Given the description of an element on the screen output the (x, y) to click on. 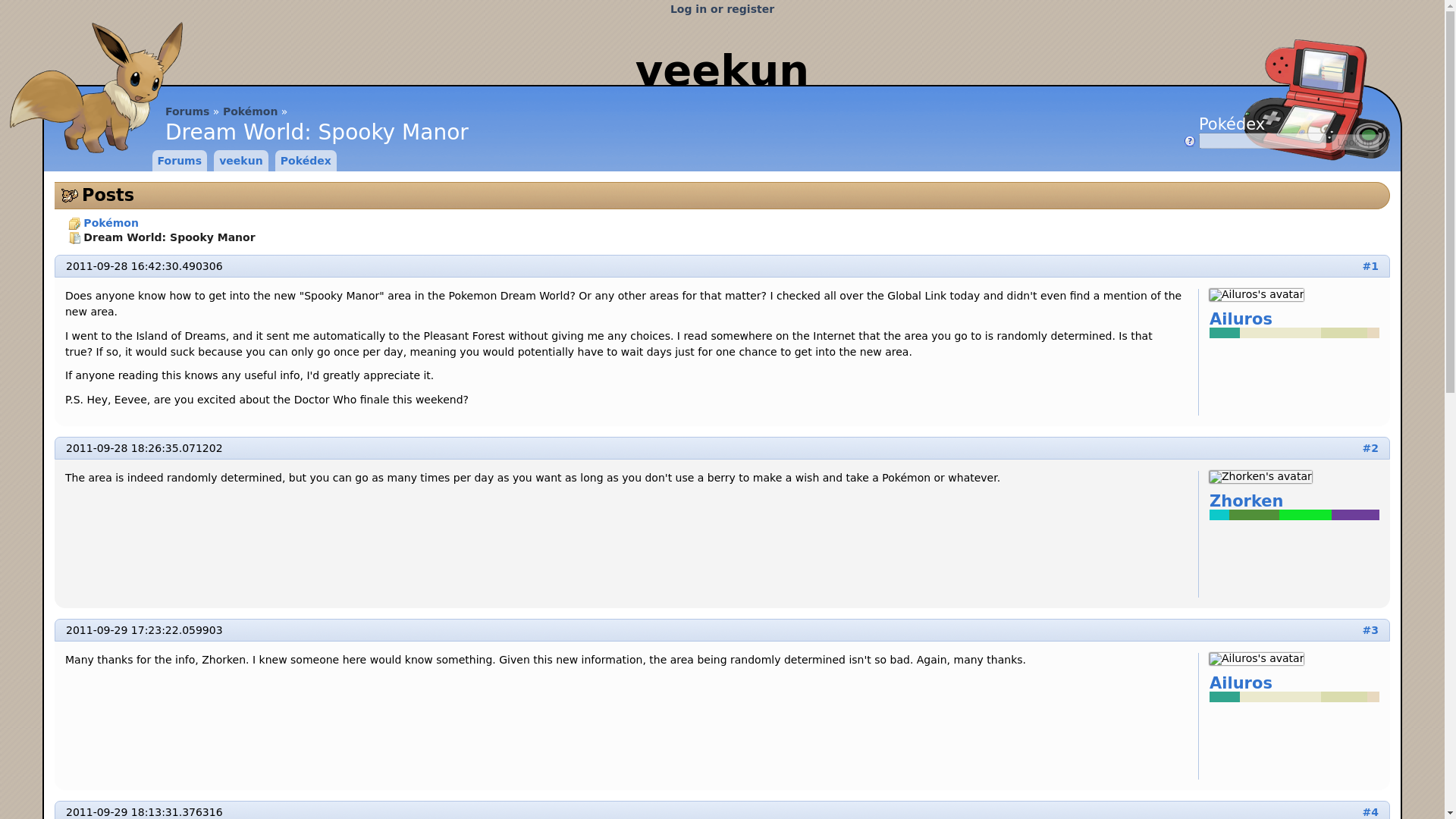
Help! (1189, 141)
Zhorken (1260, 476)
Look up (1355, 141)
Log in or register (721, 9)
Ailuros (1293, 319)
Ailuros (1256, 658)
Forums (179, 160)
veekun (721, 70)
Forums (187, 111)
Look up (1355, 141)
